Given the description of an element on the screen output the (x, y) to click on. 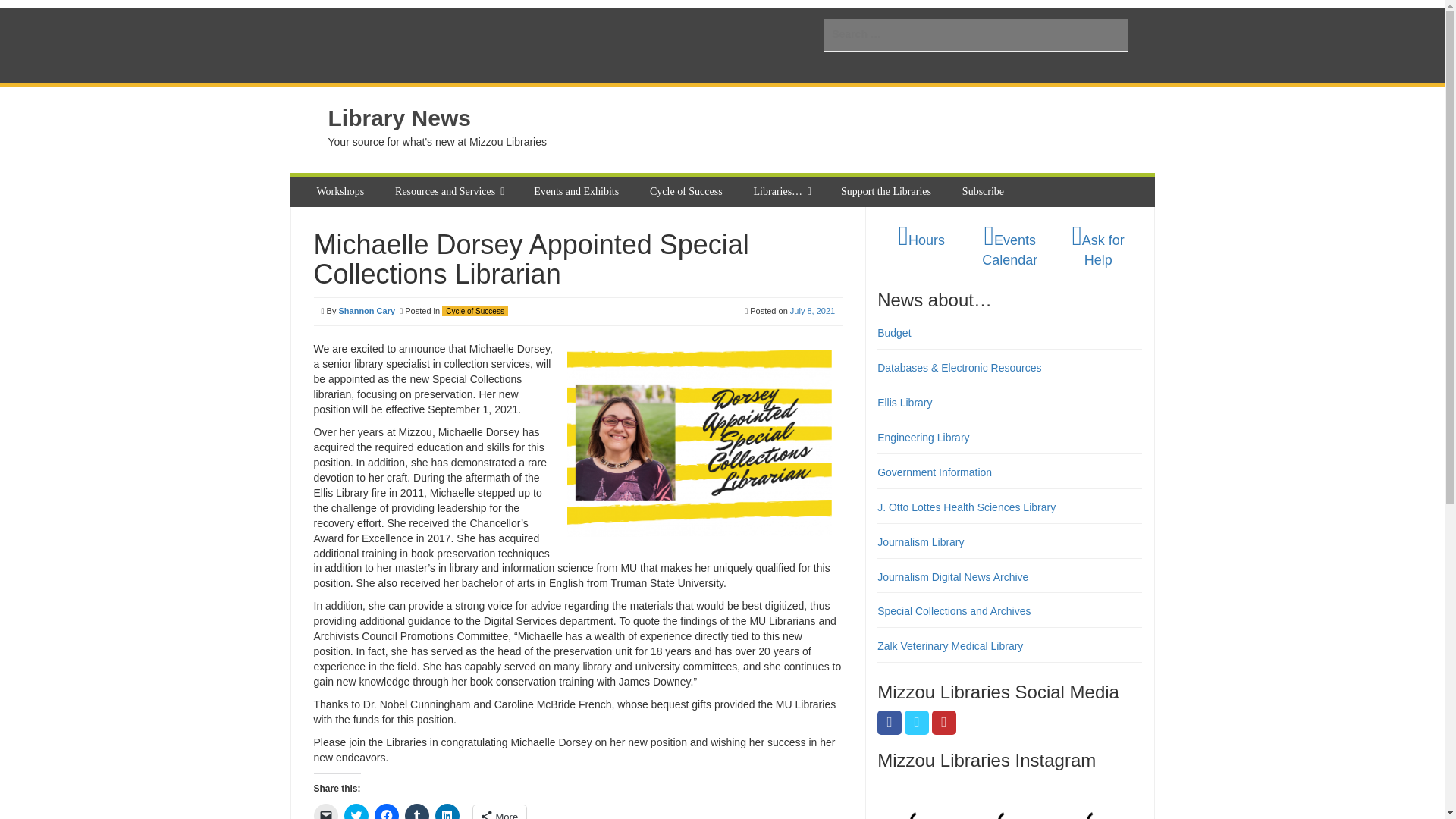
Workshops (341, 191)
Click to email a link to a friend (325, 811)
Hours (921, 240)
Library News (398, 117)
Click to share on Tumblr (416, 811)
Ask for Help (1097, 249)
Ask for Help (1097, 249)
Events and Exhibits (577, 191)
Support the Libraries (887, 191)
Libraries, University of Missouri (444, 45)
Search (22, 9)
Click to share on Facebook (386, 811)
Resources and Services (446, 191)
Click to share on Twitter (355, 811)
University of Missouri (343, 45)
